Given the description of an element on the screen output the (x, y) to click on. 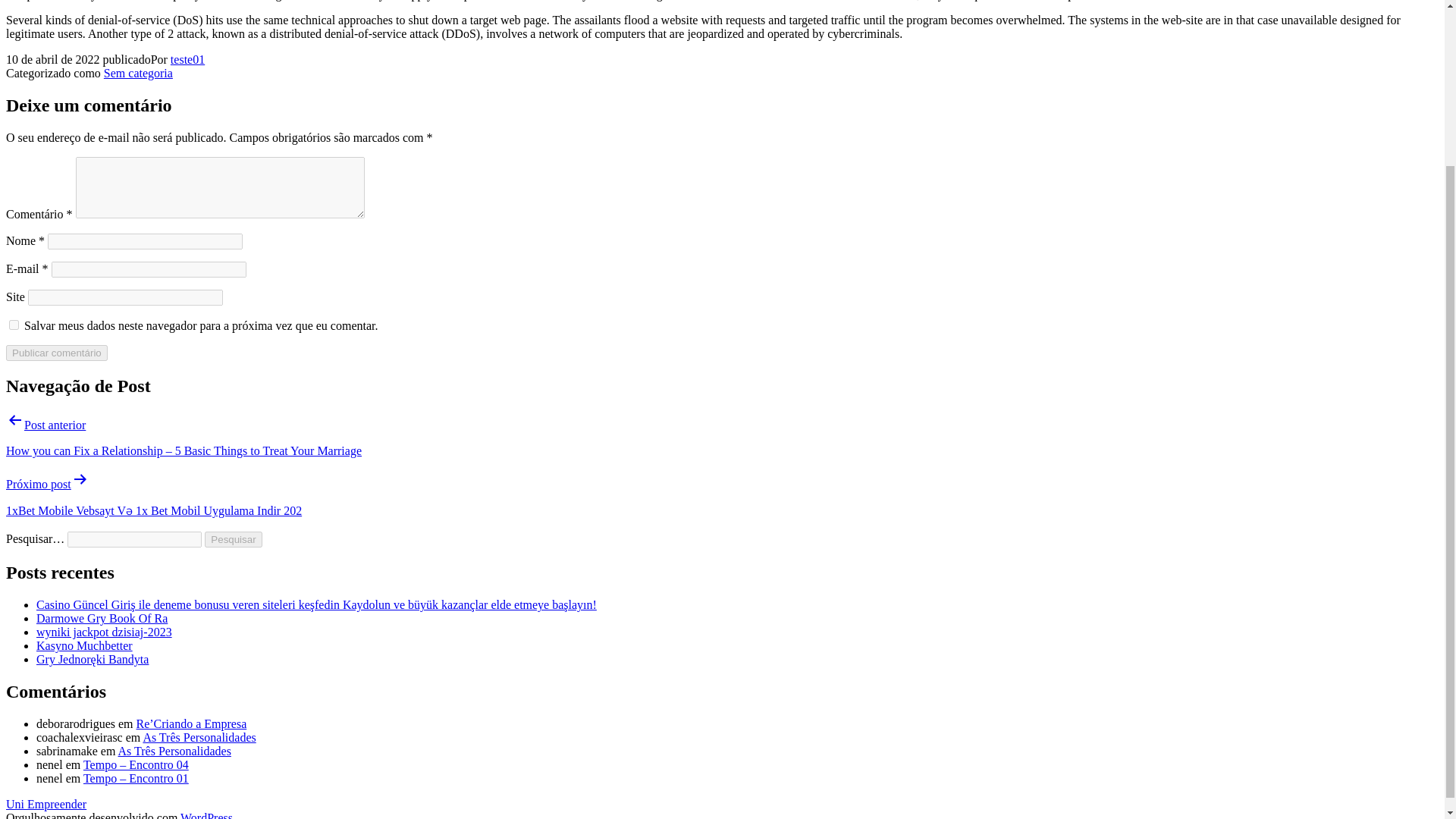
Pesquisar (233, 539)
Sem categoria (138, 72)
Uni Empreender (45, 803)
Pesquisar (233, 539)
Kasyno Muchbetter (84, 645)
Darmowe Gry Book Of Ra (101, 617)
Pesquisar (233, 539)
yes (13, 325)
wyniki jackpot dzisiaj-2023 (103, 631)
teste01 (187, 59)
